Given the description of an element on the screen output the (x, y) to click on. 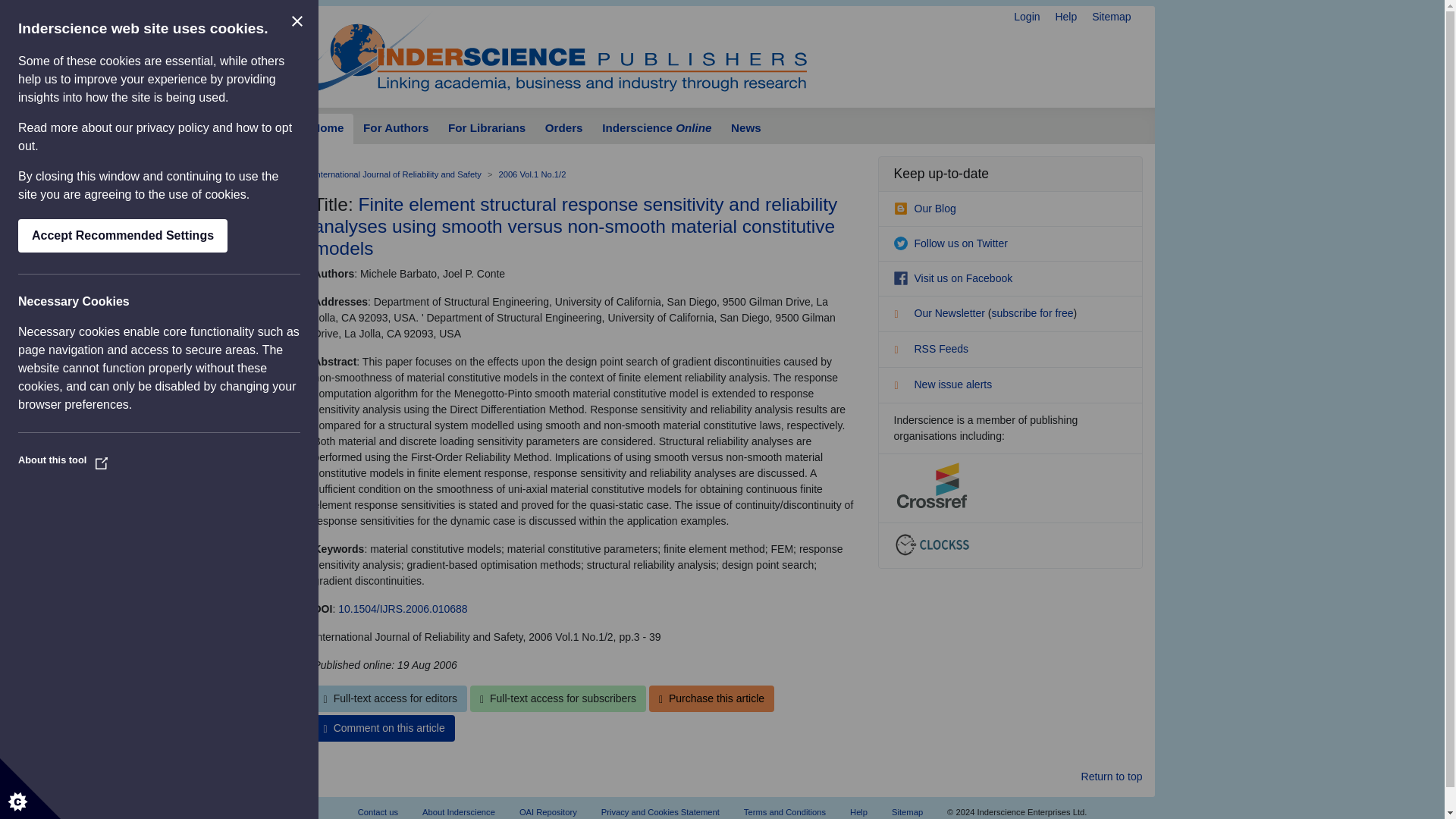
subscribe for free (1032, 313)
privacy policy (172, 127)
Our Blog (924, 208)
RSS Feeds (930, 348)
New issue alerts (942, 384)
RSS (901, 351)
Full-text access for subscribers (558, 698)
flag (901, 386)
News (745, 128)
Sitemap (1111, 16)
Read our privacy policy (172, 127)
Return to the top of the page (1111, 776)
Accept Recommended Settings (122, 235)
Help (1065, 16)
Inderscience Publishers - return to the homepage (553, 50)
